Given the description of an element on the screen output the (x, y) to click on. 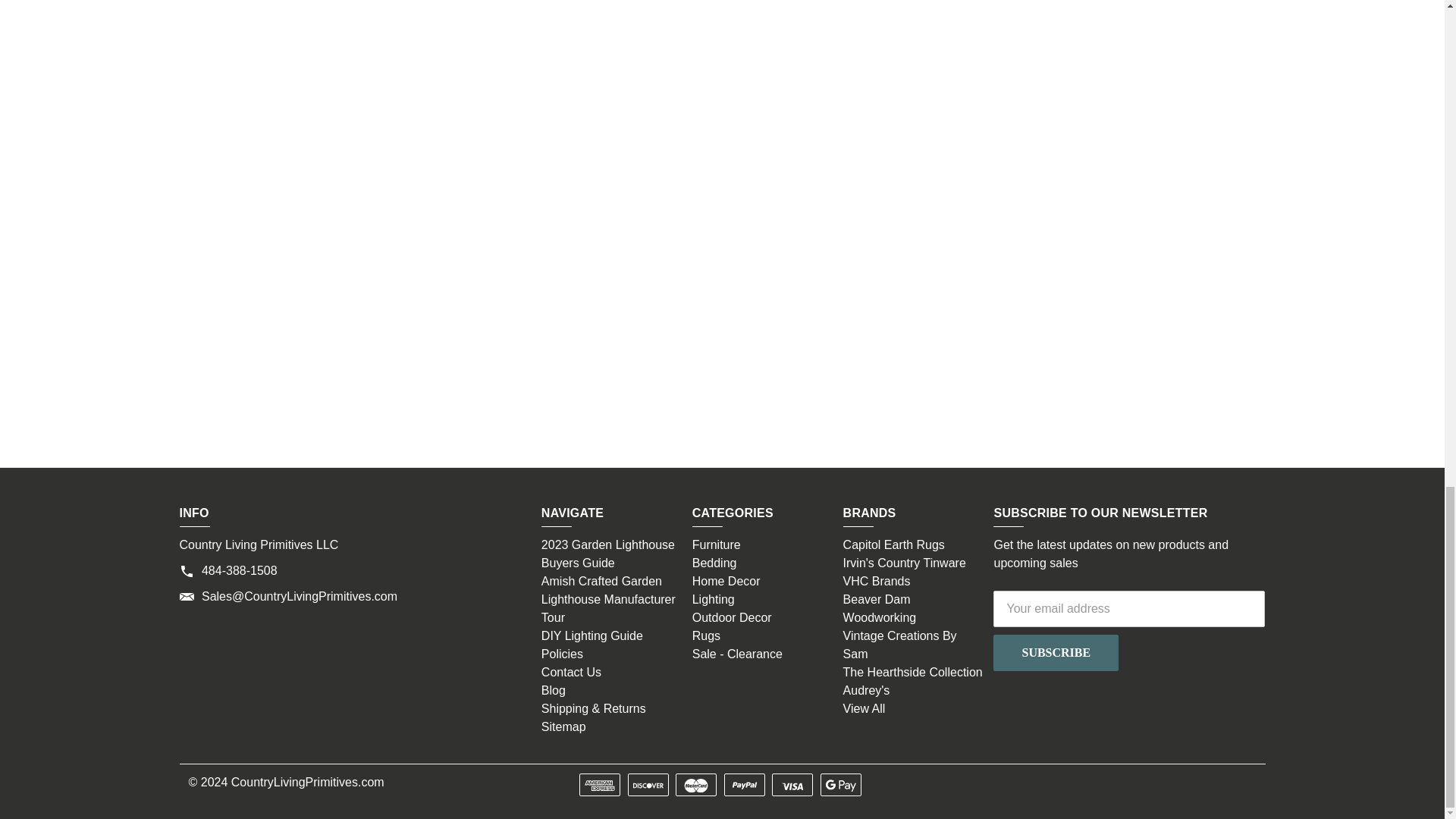
Subscribe (1055, 652)
